Given the description of an element on the screen output the (x, y) to click on. 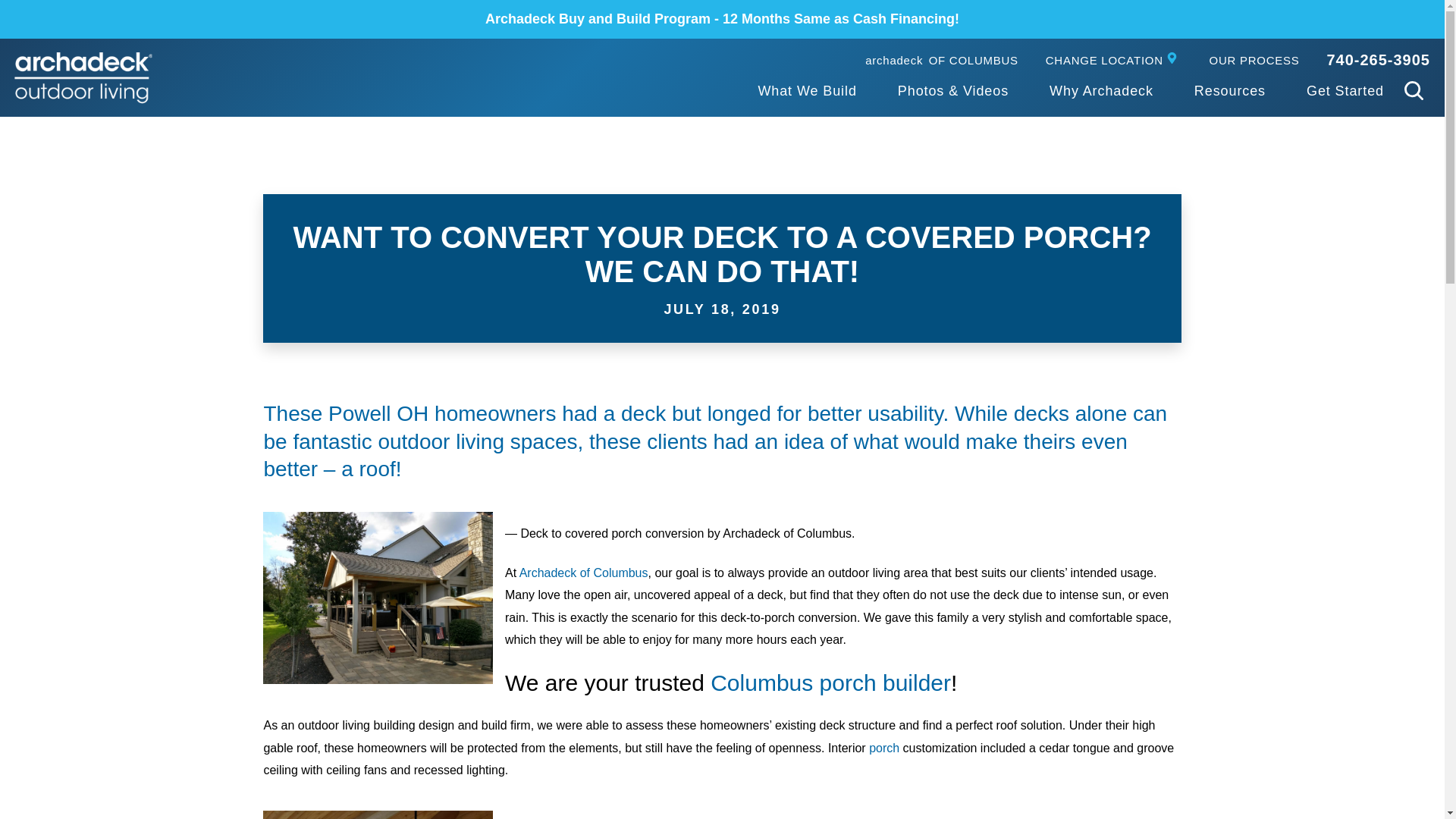
Archadeck (83, 78)
What We Build (806, 91)
Deck-to-covered-porch-conversion-in-Powell-OH (378, 597)
OUR PROCESS (1254, 60)
740-265-3905 (1377, 59)
Beautiful-finished-porch-ceiling-interior (378, 814)
Why Archadeck (940, 60)
CHANGE LOCATION (1101, 91)
